Given the description of an element on the screen output the (x, y) to click on. 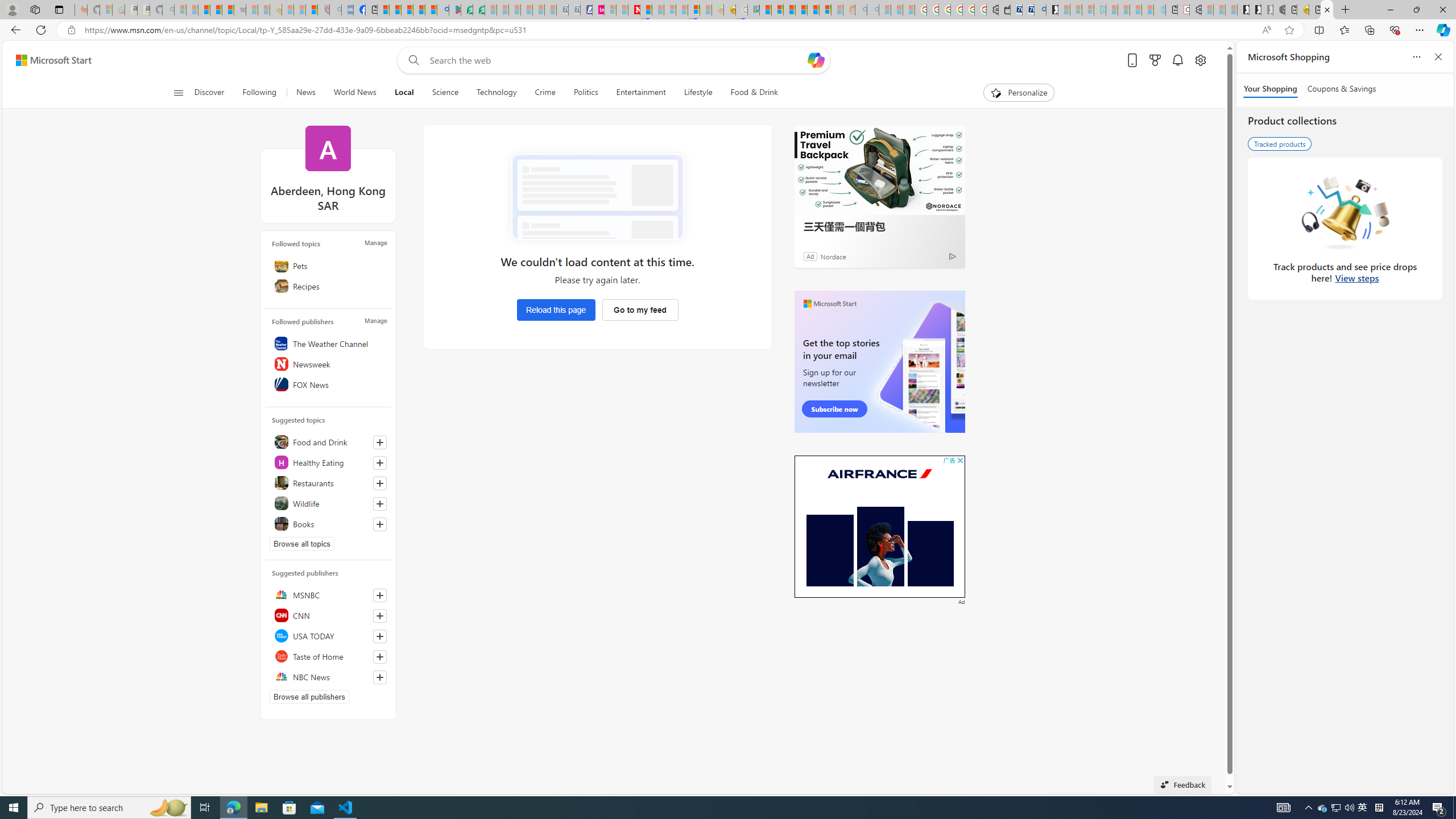
Latest Politics News & Archive | Newsweek.com (634, 9)
Personalize (1019, 92)
Enter your search term (617, 59)
Class: button-glyph (178, 92)
MSNBC - MSN (765, 9)
The Weather Channel - MSN - Sleeping (204, 9)
Home | Sky Blue Bikes - Sky Blue Bikes - Sleeping (1159, 9)
Wildlife (327, 502)
Ad Choice (952, 256)
Skip to content (49, 59)
